Given the description of an element on the screen output the (x, y) to click on. 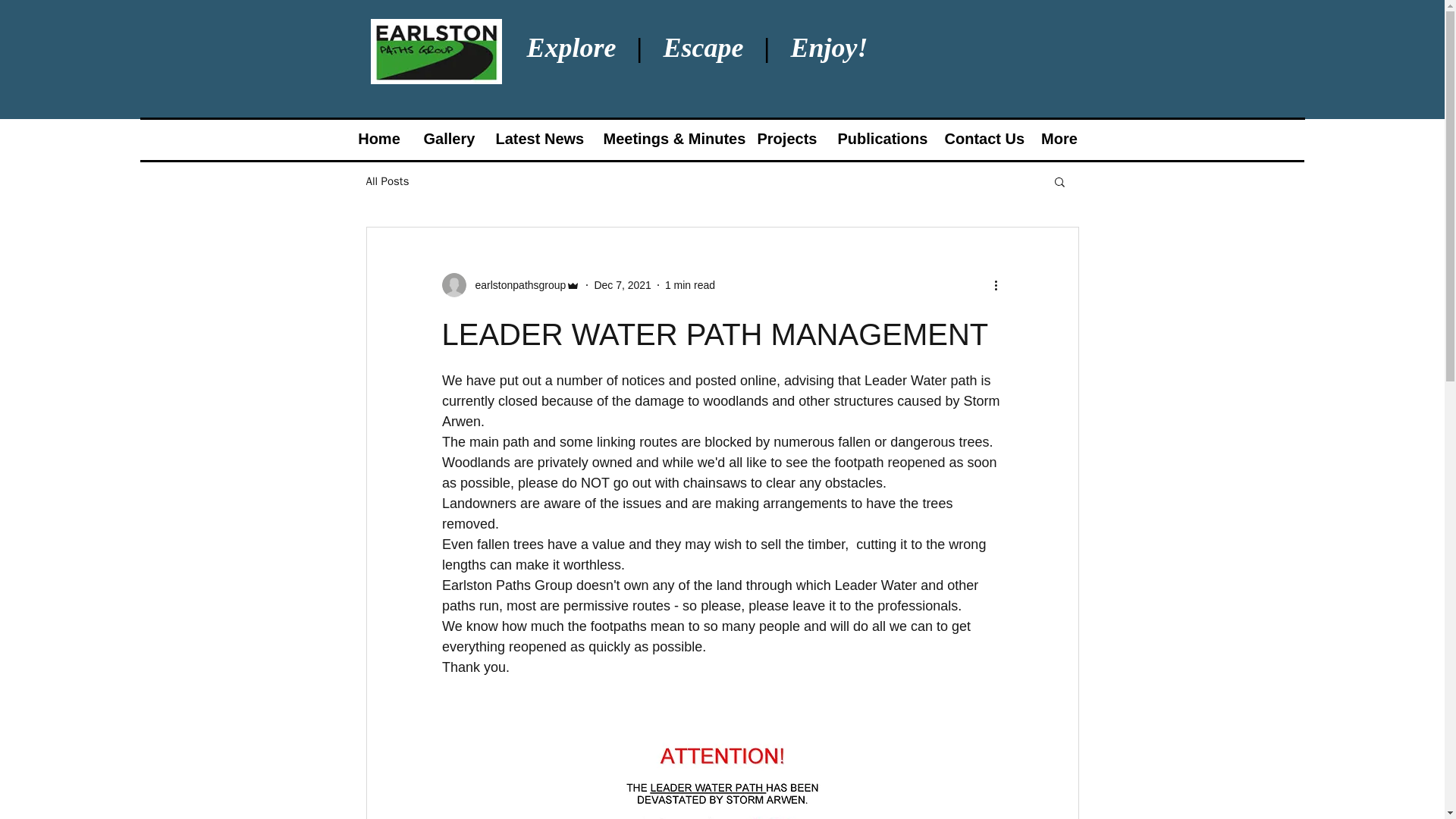
All Posts (387, 181)
Publications (959, 138)
Latest News (567, 138)
1 min read (689, 285)
Gallery (464, 138)
earlstonpathsgroup (510, 284)
Projects (851, 138)
Home (384, 138)
Dec 7, 2021 (622, 285)
earlstonpathsgroup (515, 285)
